Given the description of an element on the screen output the (x, y) to click on. 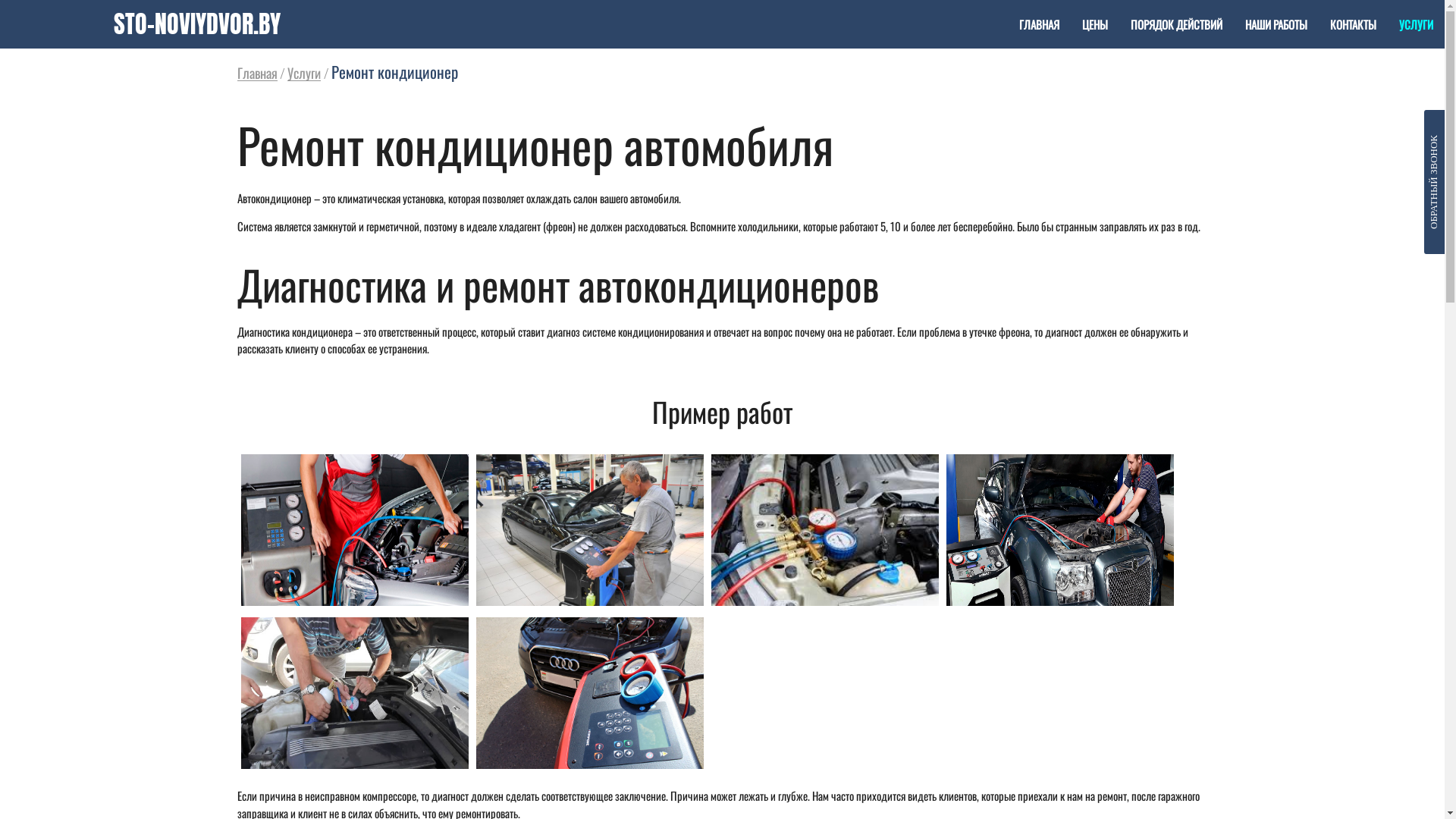
STO-NOVIYDVOR.BY Element type: text (197, 24)
